Given the description of an element on the screen output the (x, y) to click on. 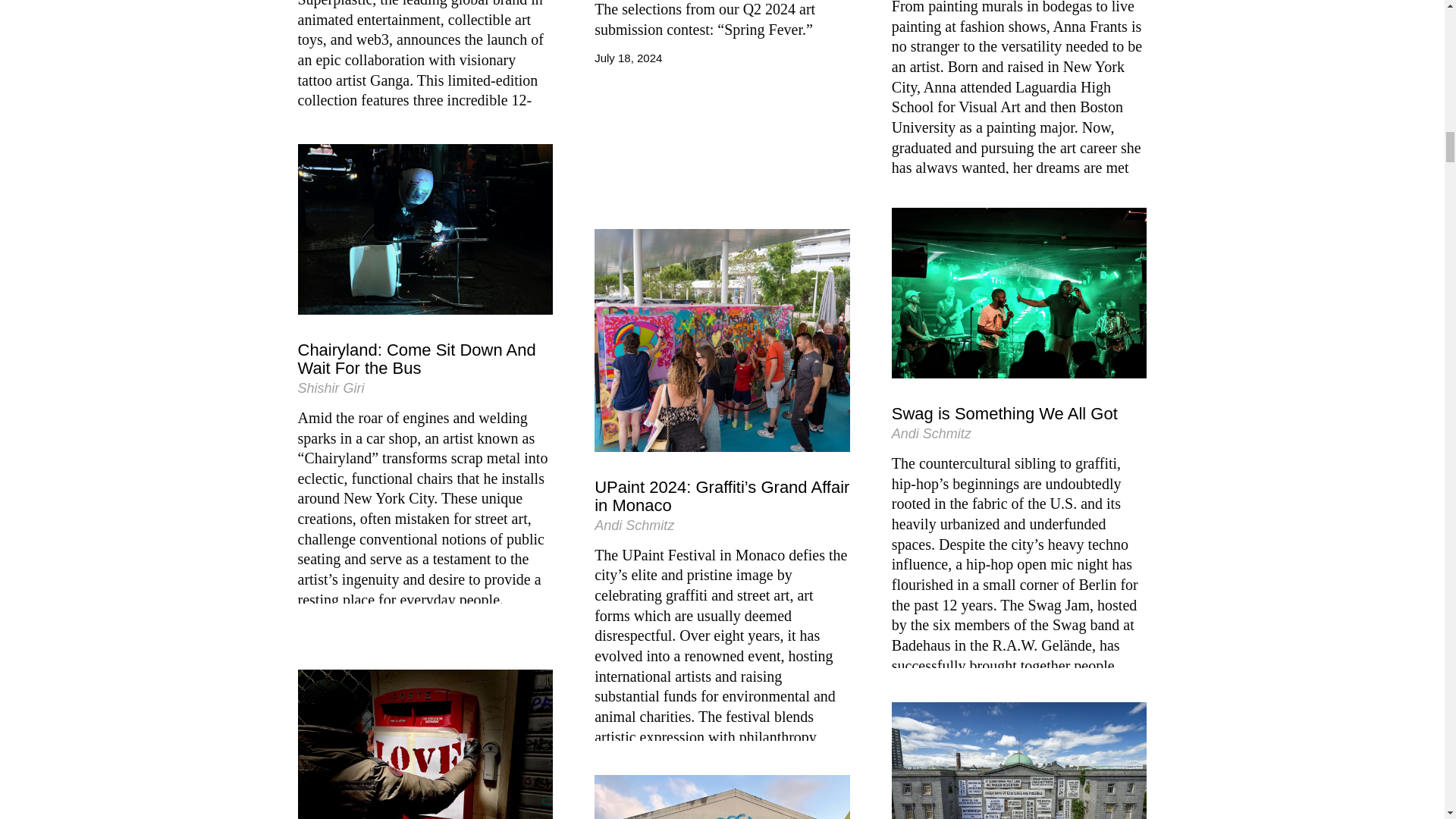
Swag is Something We All Got (1019, 293)
Chairyland: Come Sit Down And Wait For the Bus (425, 359)
Swag is Something We All Got (1004, 413)
Chairyland: Come Sit Down And Wait For the Bus (425, 359)
Chairyland: Come Sit Down And Wait For the Bus (425, 229)
Swag is Something We All Got (1004, 413)
